Given the description of an element on the screen output the (x, y) to click on. 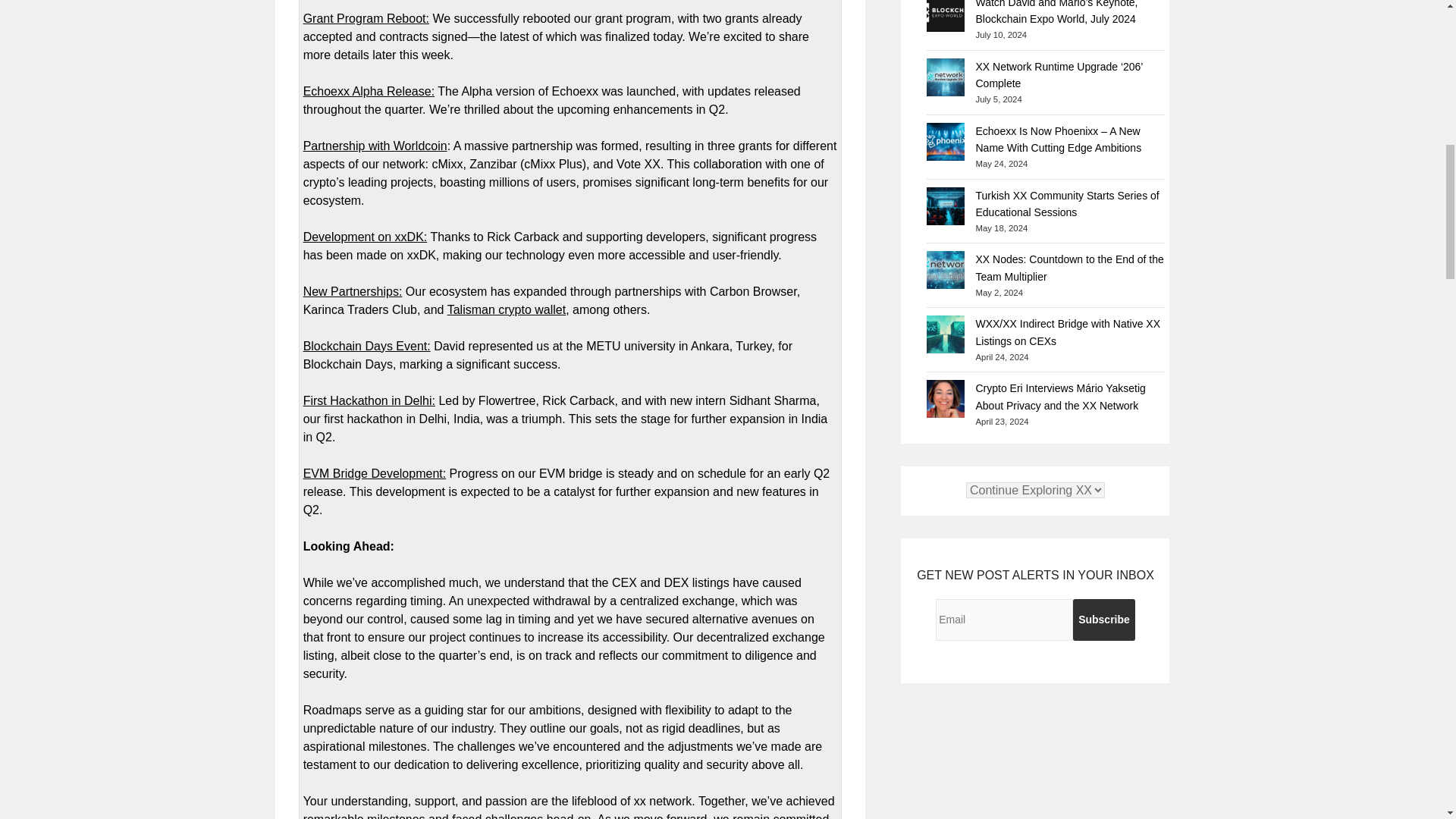
First Hackathon in Delhi: (368, 400)
New Partnerships: (352, 291)
Development on xxDK: (365, 236)
EVM Bridge Development: (374, 472)
Blockchain Days Event: (366, 345)
Echoexx Alpha Release: (367, 91)
Subscribe (1104, 619)
Grant Program Reboot: (365, 18)
Talisman crypto wallet (506, 309)
Partnership with Worldcoin (374, 145)
